Given the description of an element on the screen output the (x, y) to click on. 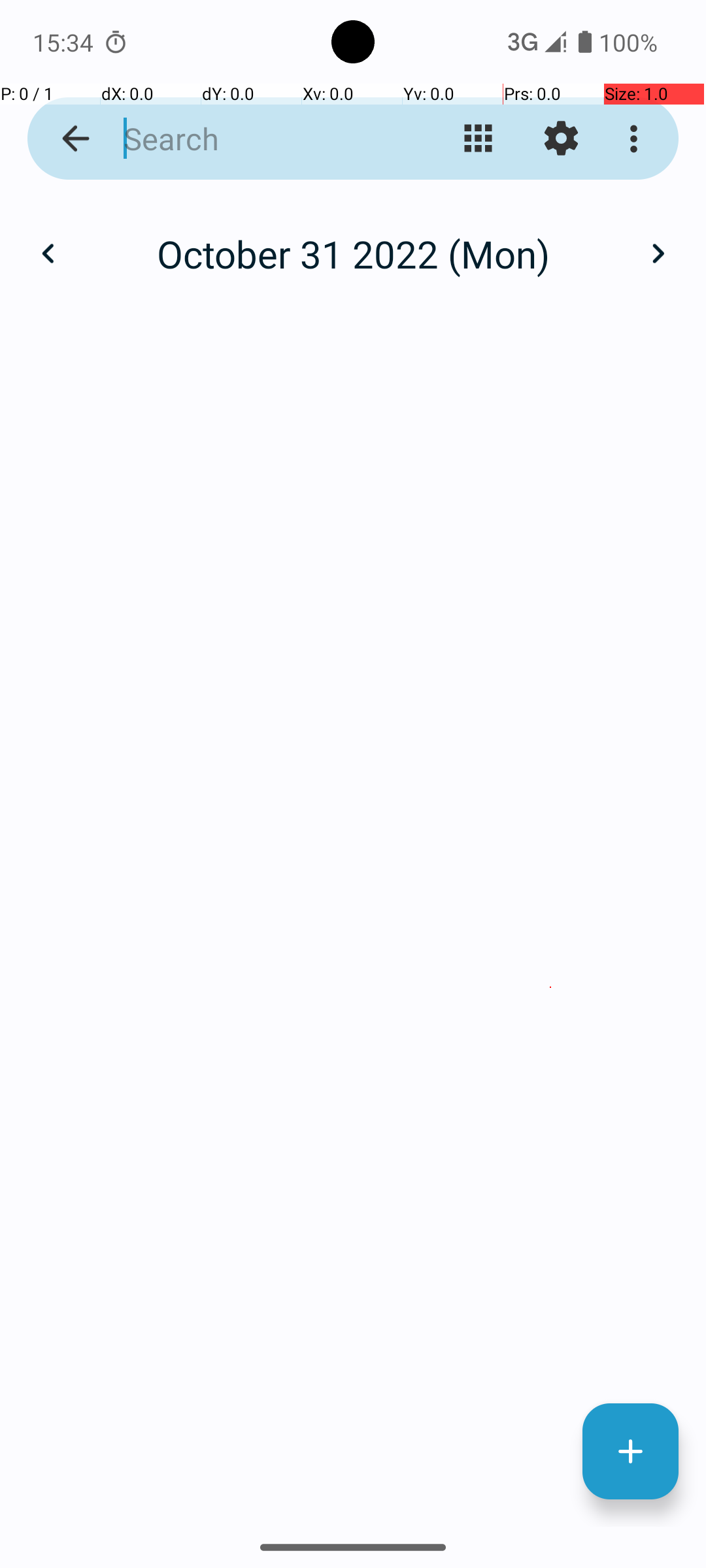
October 31 2022 (Mon) Element type: android.widget.TextView (352, 253)
